Given the description of an element on the screen output the (x, y) to click on. 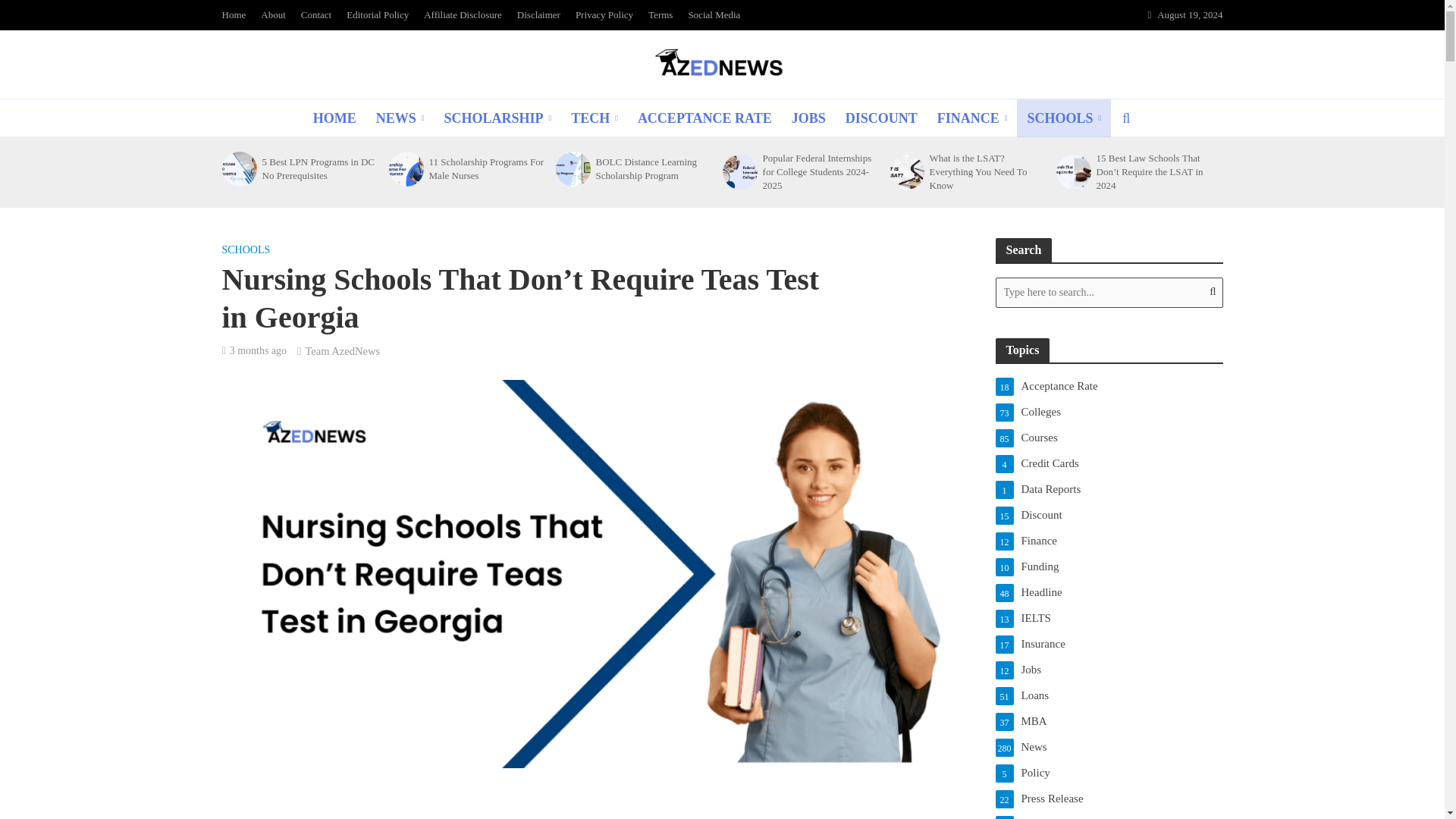
Editorial Policy (377, 15)
5 Best LPN Programs in DC No Prerequisites (320, 168)
FINANCE (972, 118)
About (273, 15)
Disclaimer (538, 15)
BOLC Distance Learning Scholarship Program (571, 168)
Home (237, 15)
11 Scholarship Programs For Male Nurses (487, 168)
5 Best LPN Programs in DC No Prerequisites (237, 168)
Affiliate Disclosure (462, 15)
